Given the description of an element on the screen output the (x, y) to click on. 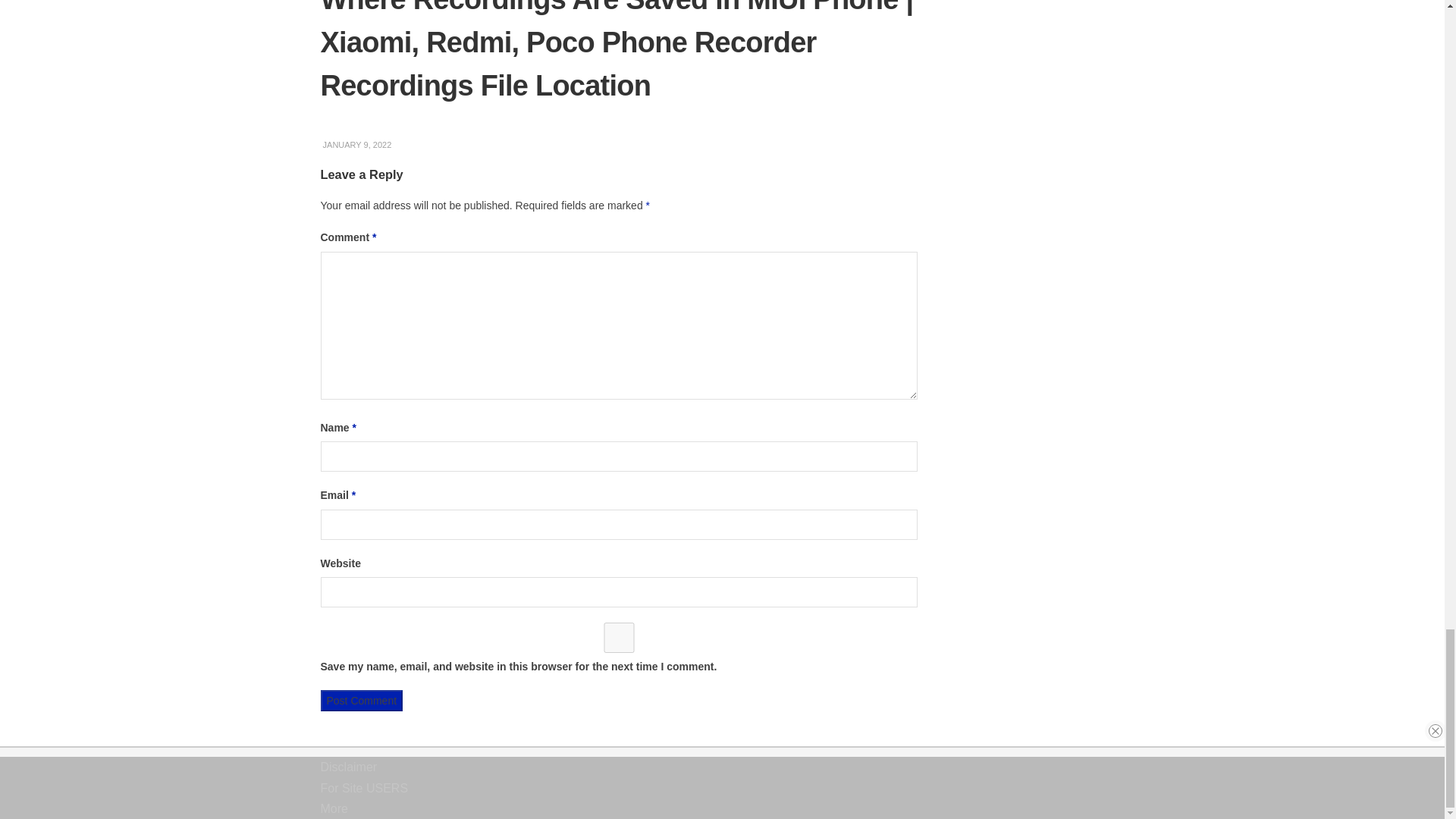
Post Comment (361, 700)
JANUARY 9, 2022 (355, 144)
yes (618, 637)
Post Comment (361, 700)
